Given the description of an element on the screen output the (x, y) to click on. 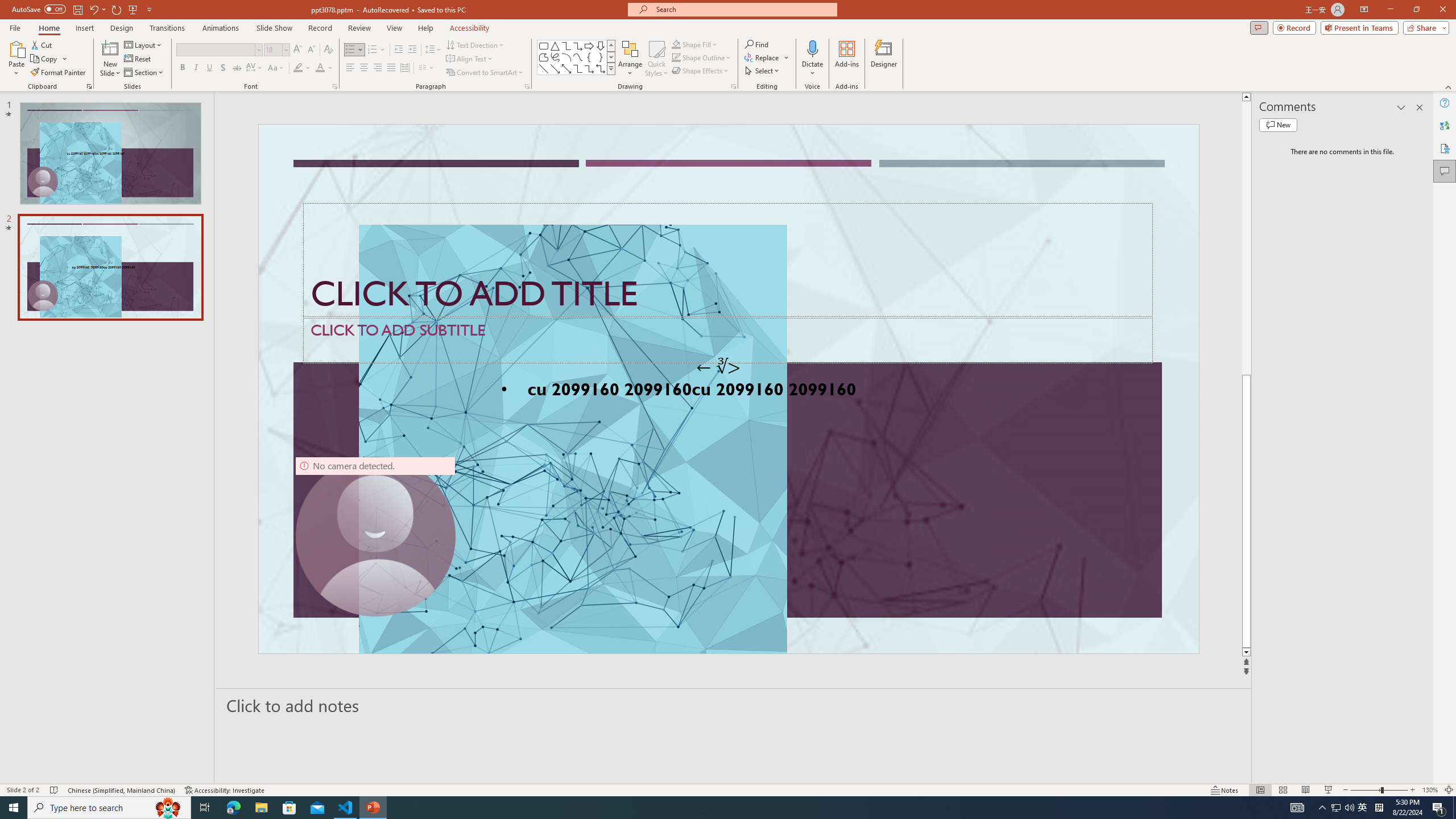
Slide Notes (733, 705)
Character Spacing (254, 67)
Format Painter (58, 72)
Paste (16, 48)
Paragraph... (526, 85)
Replace... (762, 56)
Shadow (223, 67)
Format Object... (733, 85)
Shape Fill (694, 44)
Microsoft search (742, 9)
Font (215, 49)
Freeform: Scribble (554, 57)
Center (363, 67)
Zoom In (1412, 790)
Zoom Out (1365, 790)
